Given the description of an element on the screen output the (x, y) to click on. 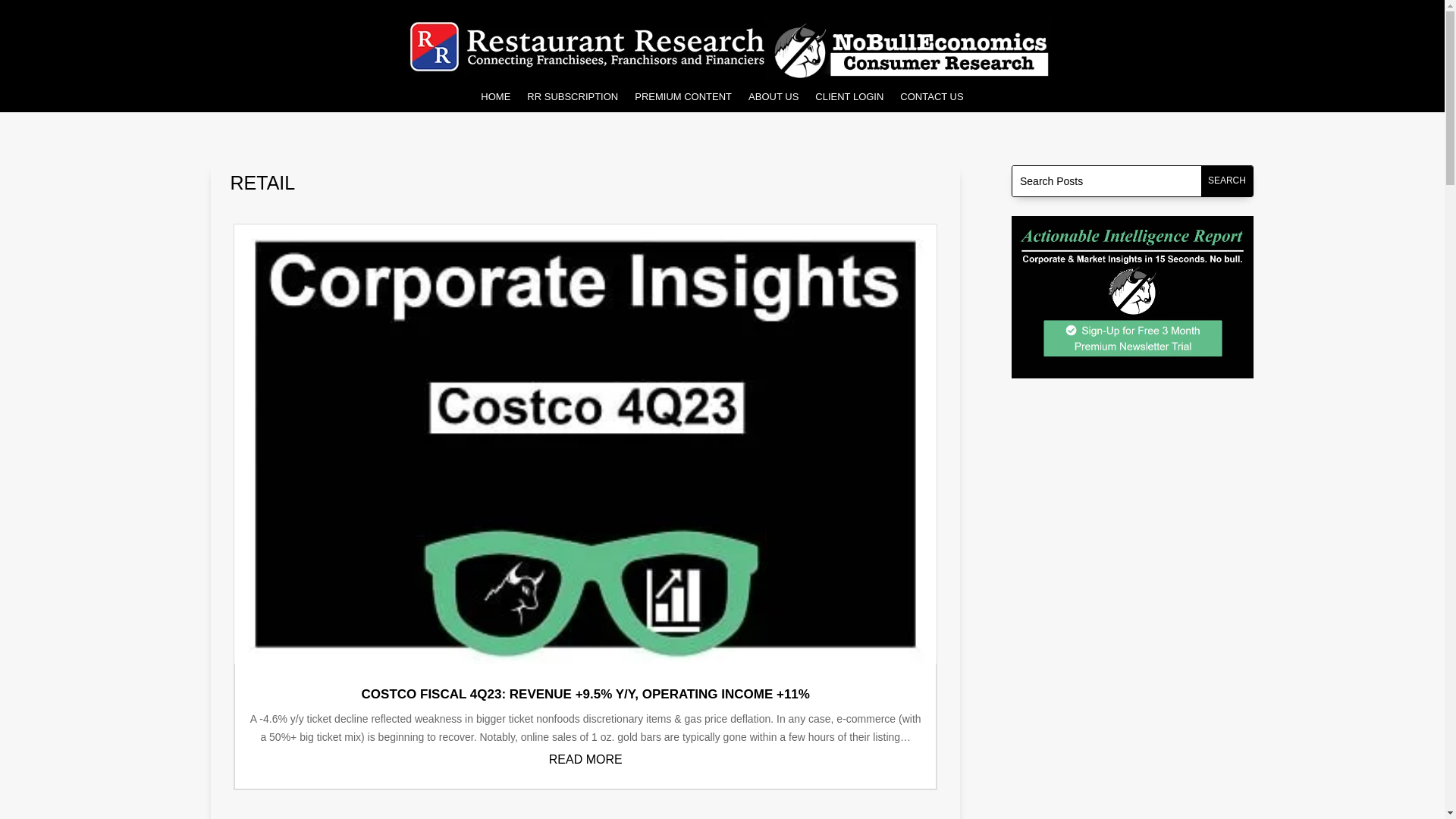
Search (1226, 181)
PREMIUM CONTENT (683, 99)
Become a Member (1132, 297)
HOME (495, 99)
Search (1226, 181)
RR SUBSCRIPTION (572, 99)
CONTACT US (930, 99)
CLIENT LOGIN (849, 99)
Search (1226, 181)
ABOUT US (772, 99)
READ MORE (585, 758)
